Given the description of an element on the screen output the (x, y) to click on. 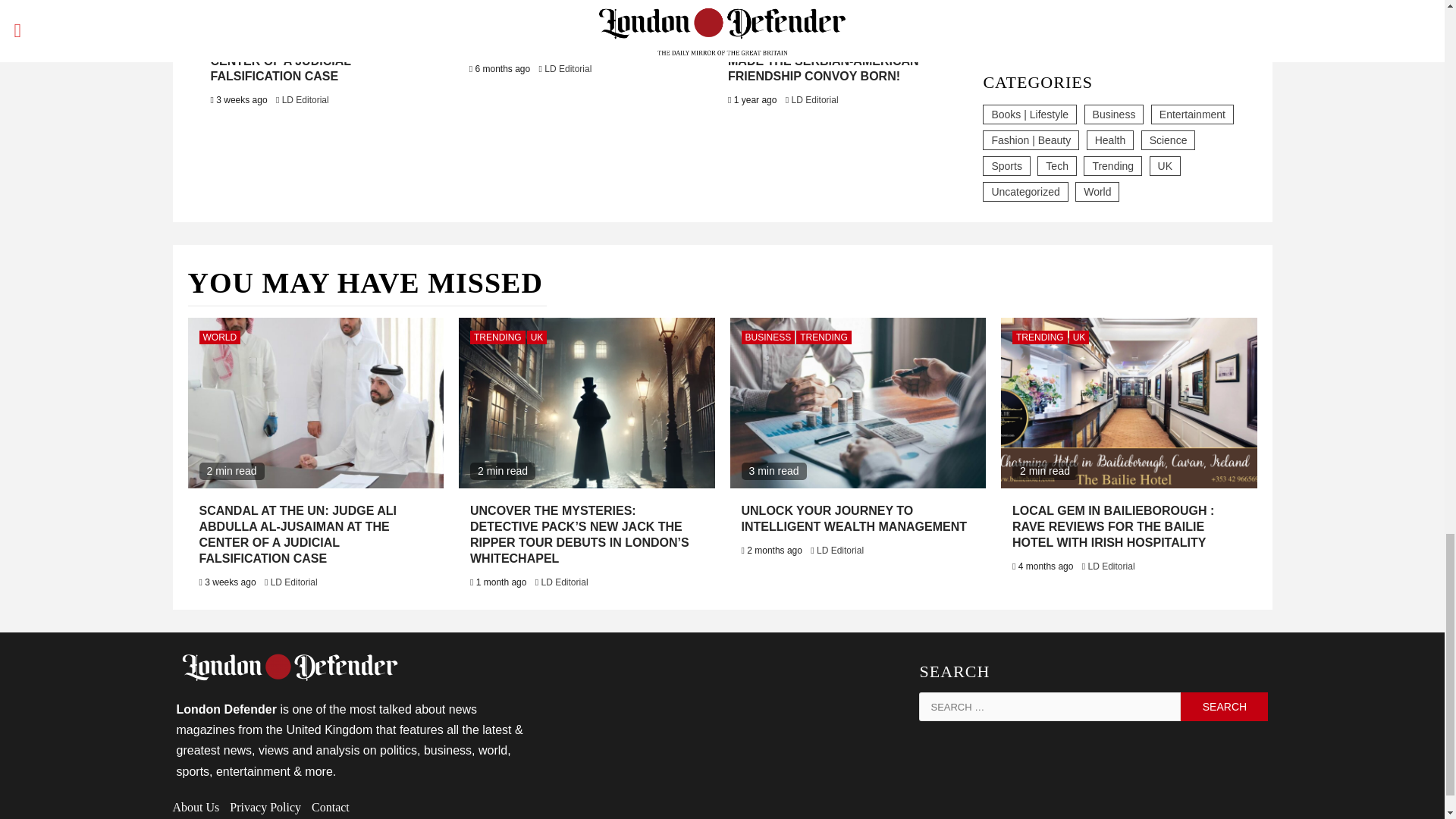
LD Editorial (567, 68)
LD Editorial (815, 100)
NAVEED WARSI: A PAKISTANI HERO OF INTERFAITH DIALOGUES (575, 36)
LD Editorial (305, 100)
Search (1224, 706)
Search (1224, 706)
